Given the description of an element on the screen output the (x, y) to click on. 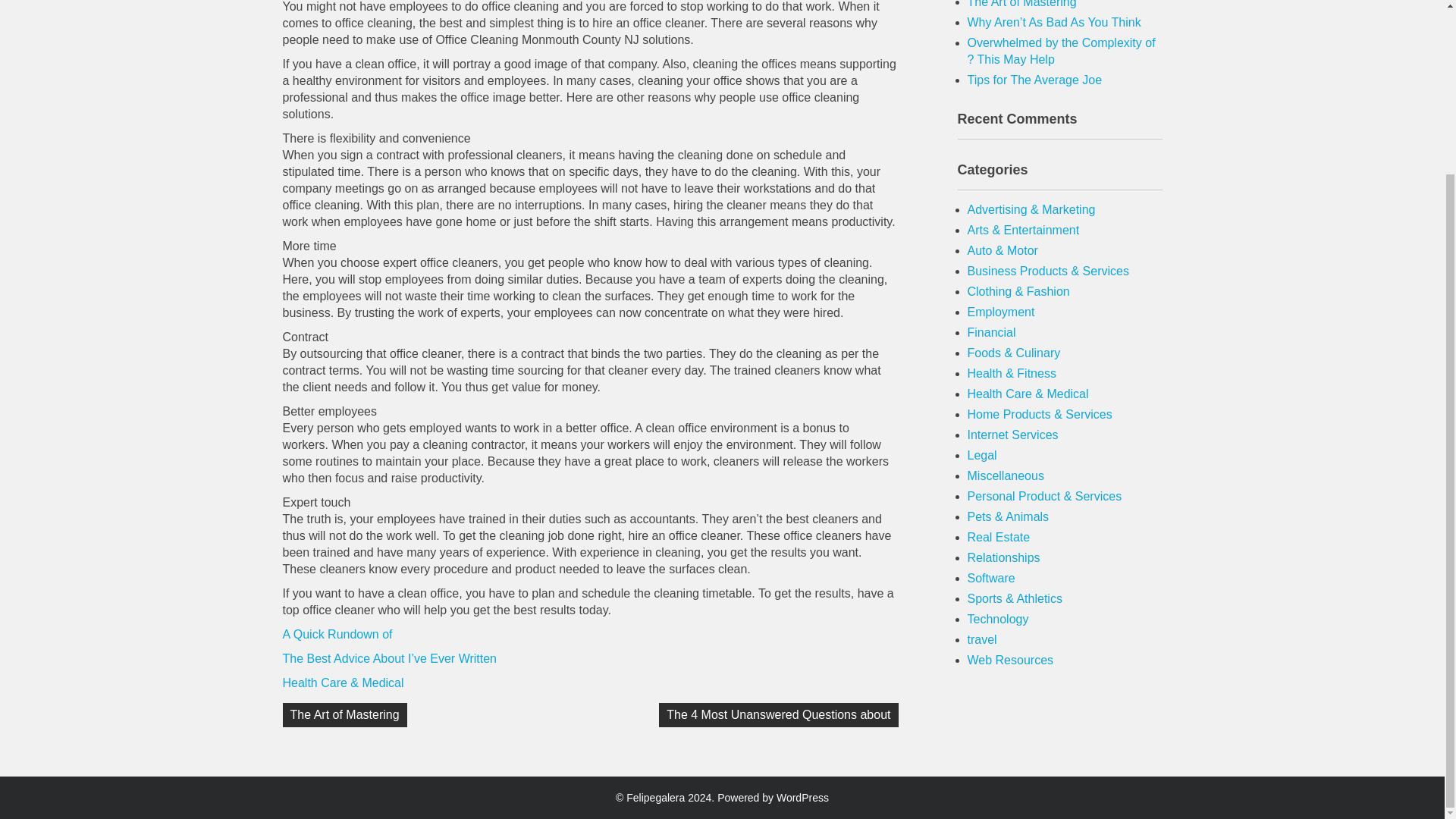
A Quick Rundown of (336, 634)
Tips for The Average Joe (1035, 79)
Web Resources (1011, 659)
Employment (1001, 311)
Miscellaneous (1005, 475)
The 4 Most Unanswered Questions about (778, 714)
Financial (992, 332)
Overwhelmed by the Complexity of ? This May Help (1062, 51)
Software (991, 577)
The Art of Mastering (344, 714)
Relationships (1004, 557)
Legal (982, 454)
travel (982, 639)
Internet Services (1013, 434)
The Art of Mastering (1022, 4)
